Given the description of an element on the screen output the (x, y) to click on. 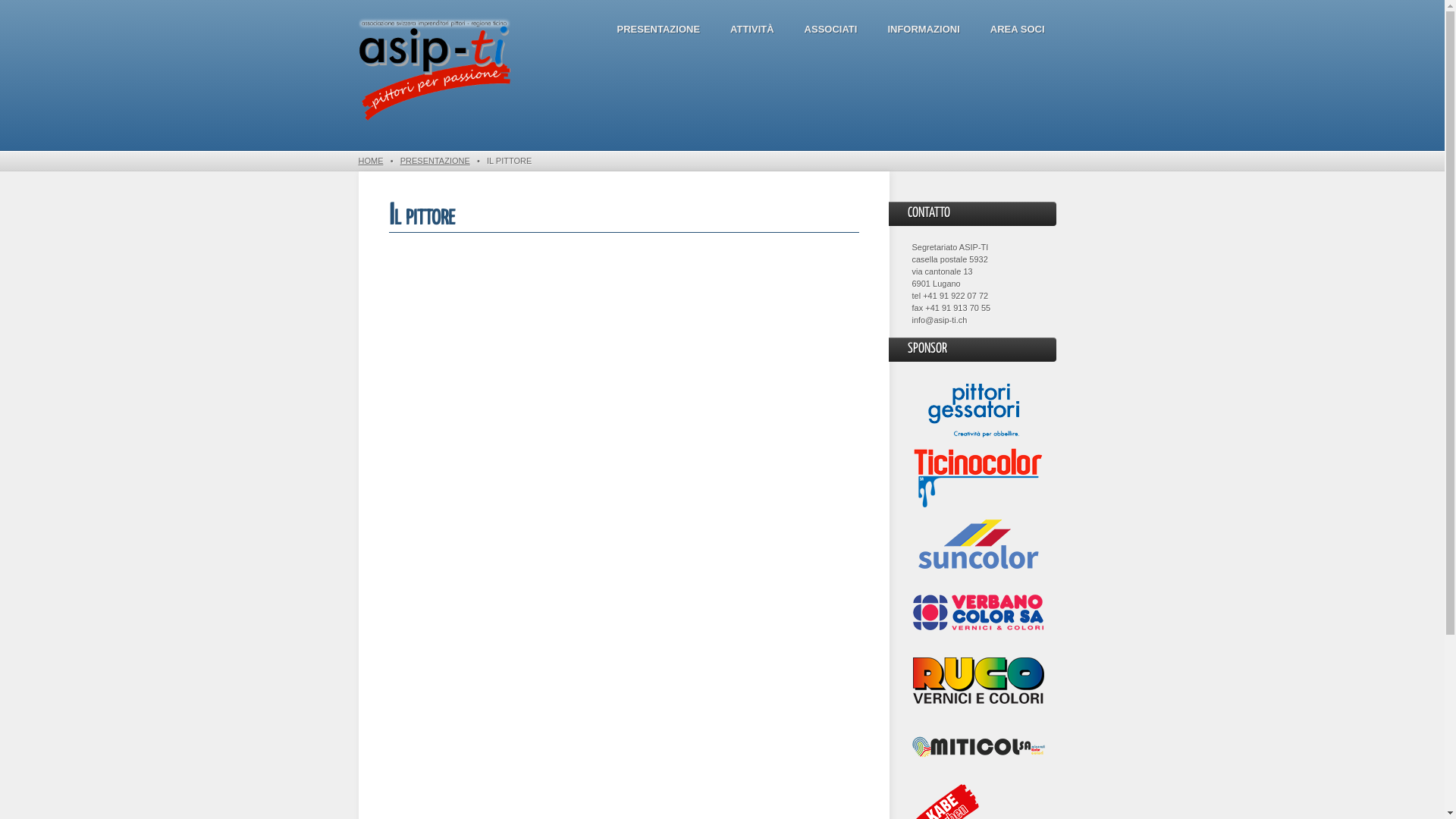
PRESENTAZIONE Element type: text (435, 160)
Associazione Svizzera Imprenditori Pittori - Regione Ticino Element type: hover (433, 70)
ASSOCIATI Element type: text (831, 29)
INFORMAZIONI Element type: text (922, 29)
HOME Element type: text (369, 160)
AREA SOCI Element type: text (1017, 29)
PRESENTAZIONE Element type: text (658, 29)
